Given the description of an element on the screen output the (x, y) to click on. 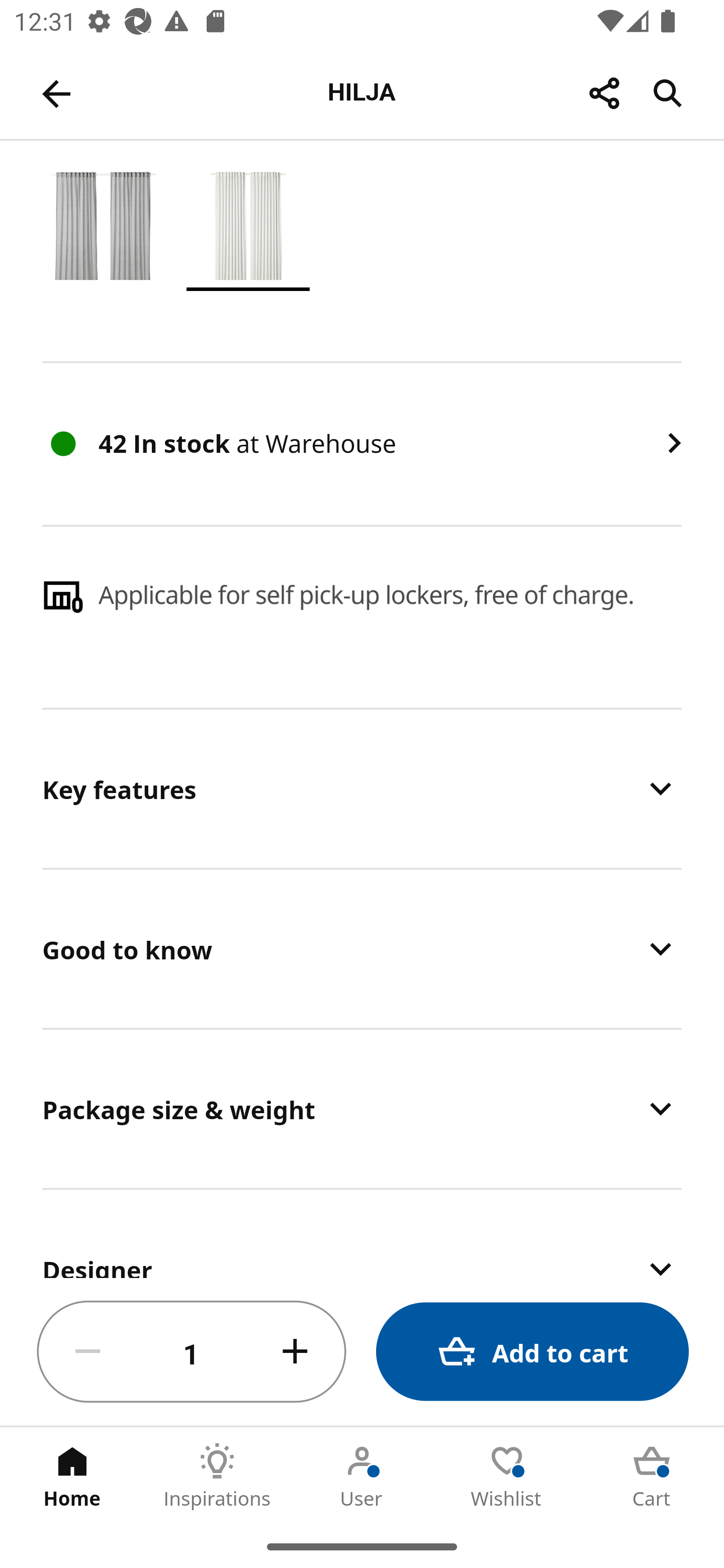
42 In stock at Warehouse (361, 443)
Key features (361, 788)
Good to know (361, 948)
Package size & weight (361, 1108)
Designer (361, 1234)
Add to cart (531, 1352)
1 (191, 1352)
Home
Tab 1 of 5 (72, 1476)
Inspirations
Tab 2 of 5 (216, 1476)
User
Tab 3 of 5 (361, 1476)
Wishlist
Tab 4 of 5 (506, 1476)
Cart
Tab 5 of 5 (651, 1476)
